Given the description of an element on the screen output the (x, y) to click on. 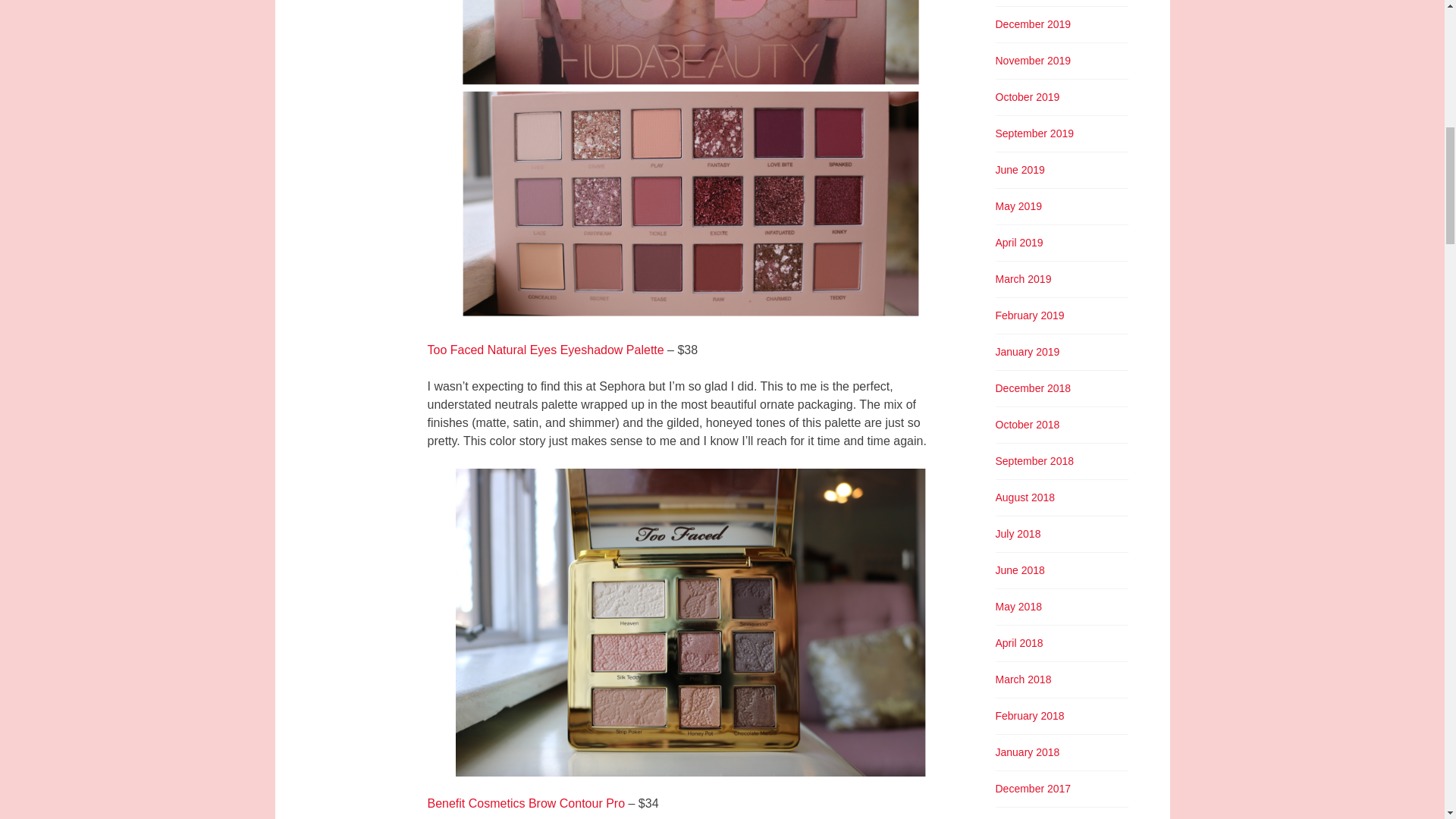
Too Faced Natural Eyes Eyeshadow Palette (545, 349)
Benefit Cosmetics Brow Contour Pro (527, 802)
